Given the description of an element on the screen output the (x, y) to click on. 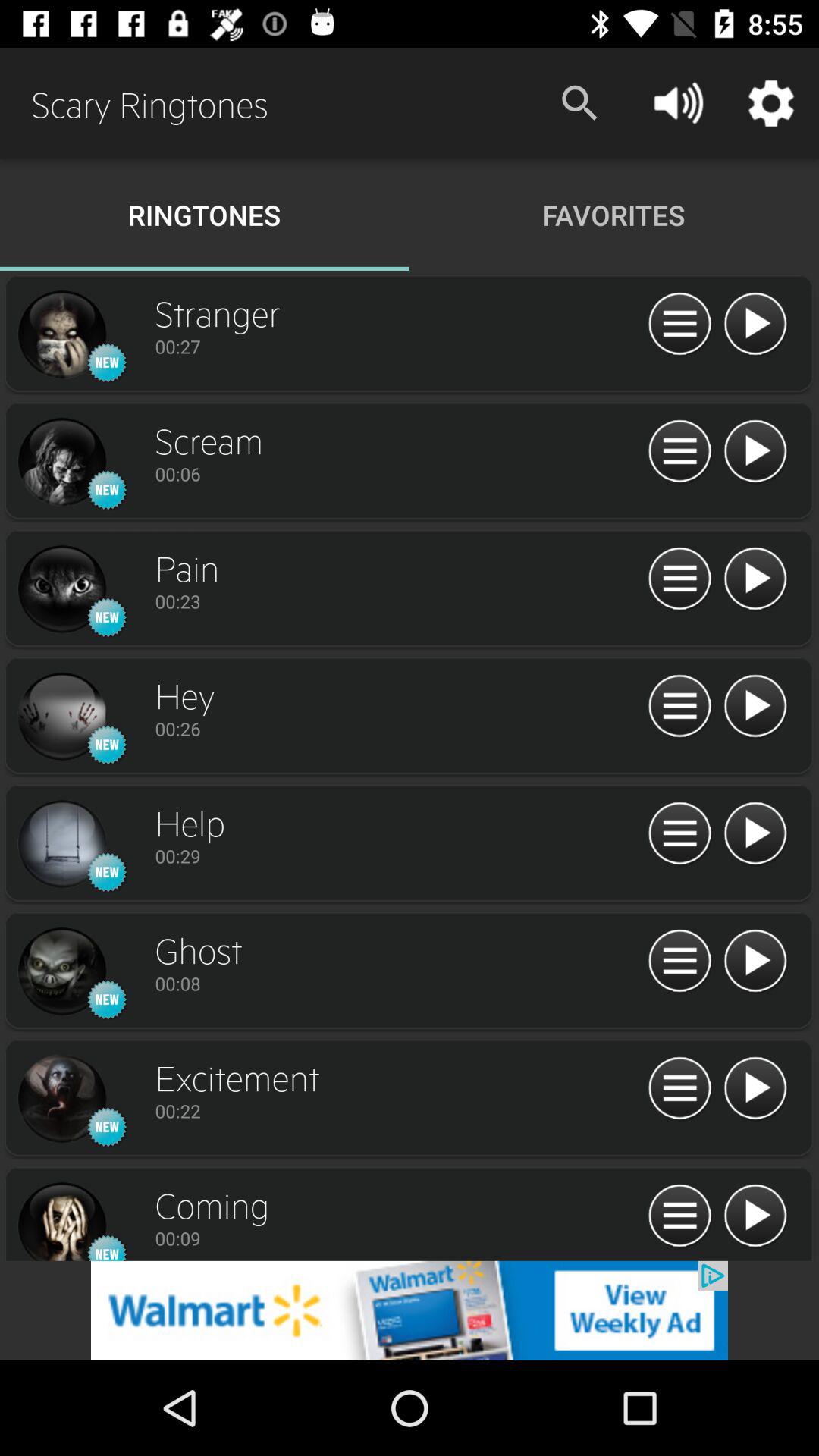
go to play (755, 451)
